Given the description of an element on the screen output the (x, y) to click on. 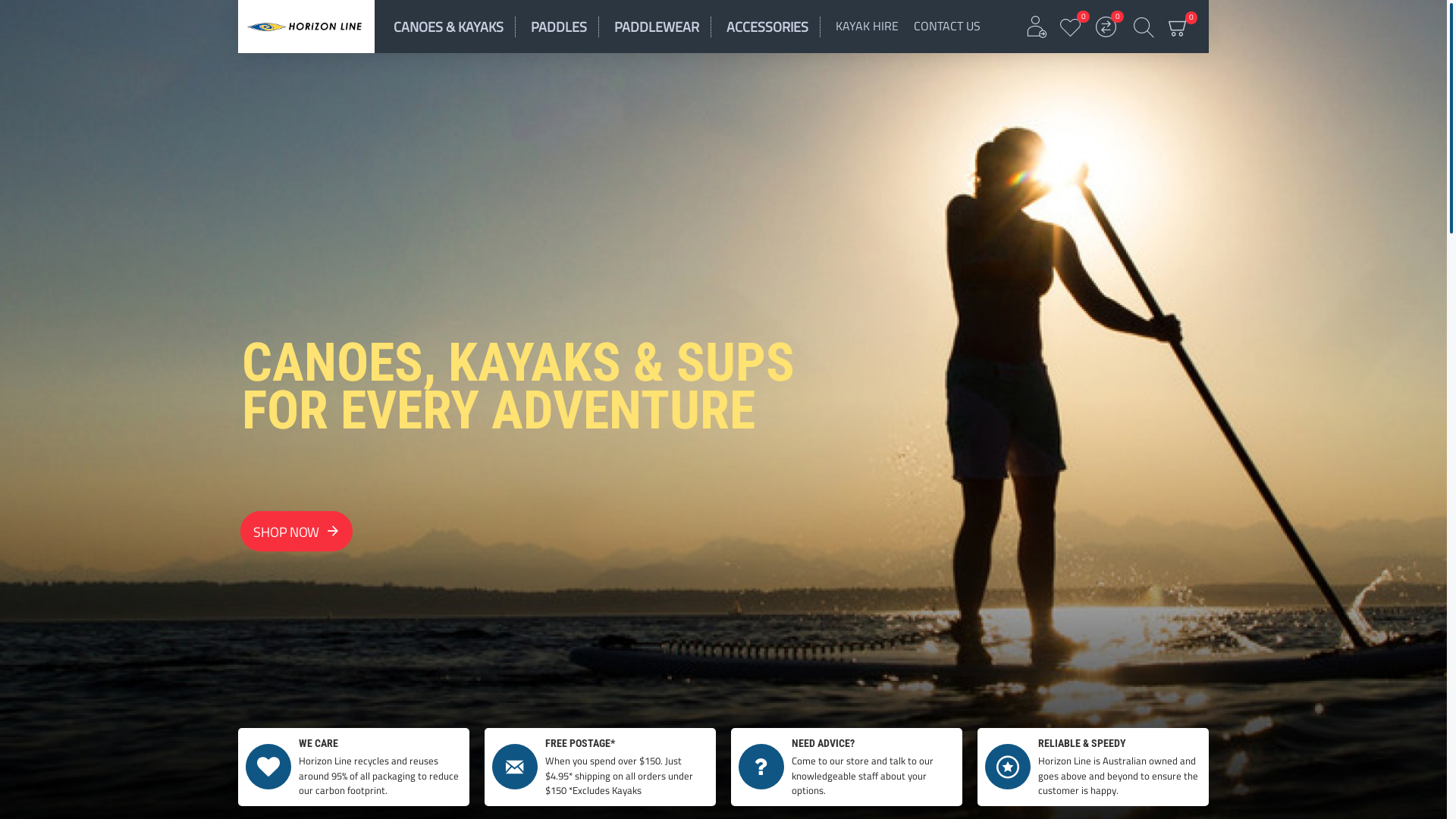
Horizon Line Element type: hover (306, 26)
CANOES & KAYAKS Element type: text (454, 26)
PADDLES Element type: text (564, 26)
0 Element type: text (1178, 26)
CONTACT US Element type: text (947, 26)
ACCESSORIES Element type: text (773, 26)
PADDLEWEAR Element type: text (662, 26)
SHOP NOW Element type: text (283, 525)
0 Element type: text (1071, 26)
0 Element type: text (1106, 26)
KAYAK HIRE Element type: text (866, 26)
